Given the description of an element on the screen output the (x, y) to click on. 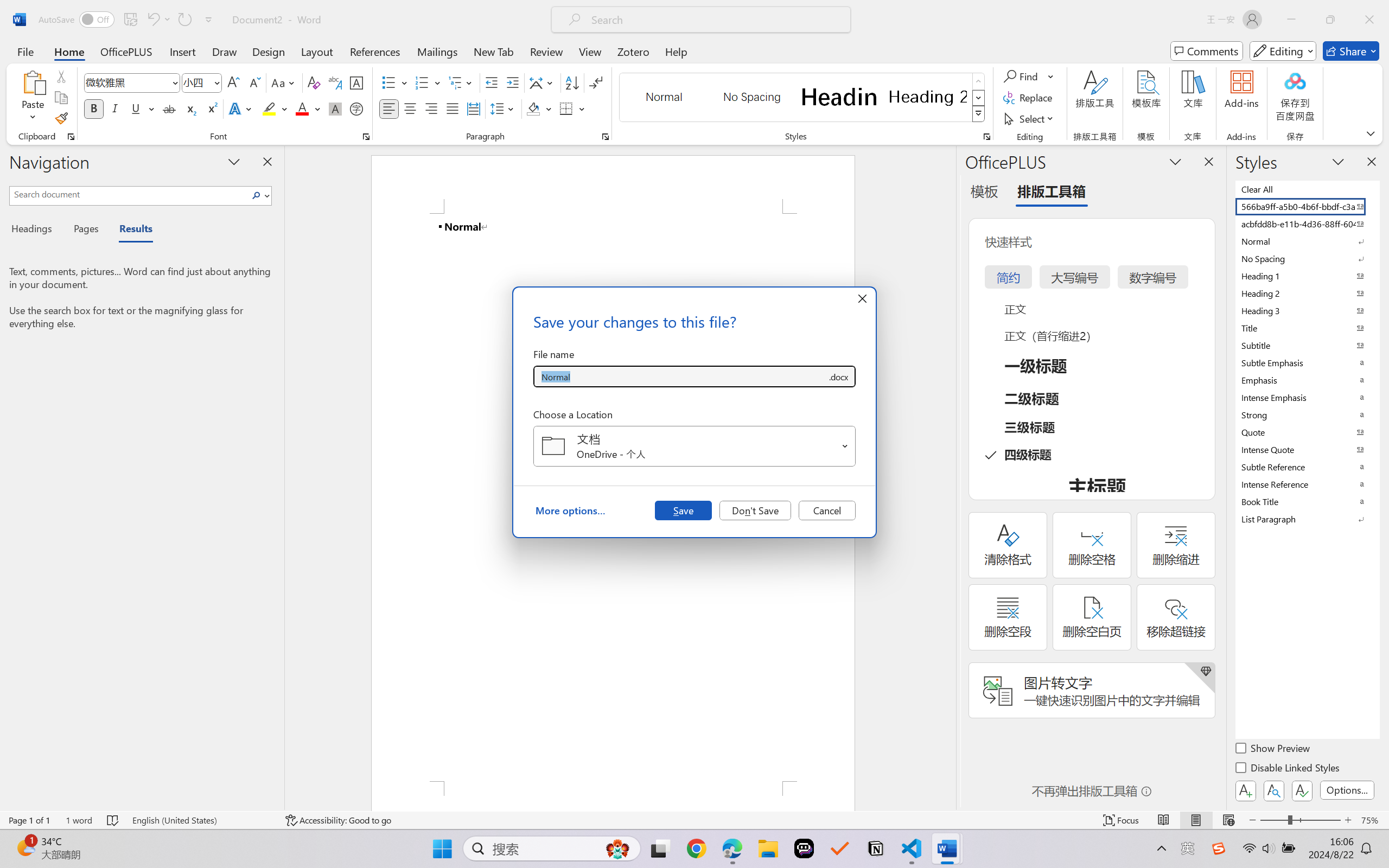
Choose a Location (694, 446)
Insert (182, 51)
Enclose Characters... (356, 108)
Find (1029, 75)
Phonetic Guide... (334, 82)
Pages (85, 229)
Mode (1283, 50)
Focus  (1121, 819)
Help (675, 51)
Class: NetUIScrollBar (948, 477)
